Given the description of an element on the screen output the (x, y) to click on. 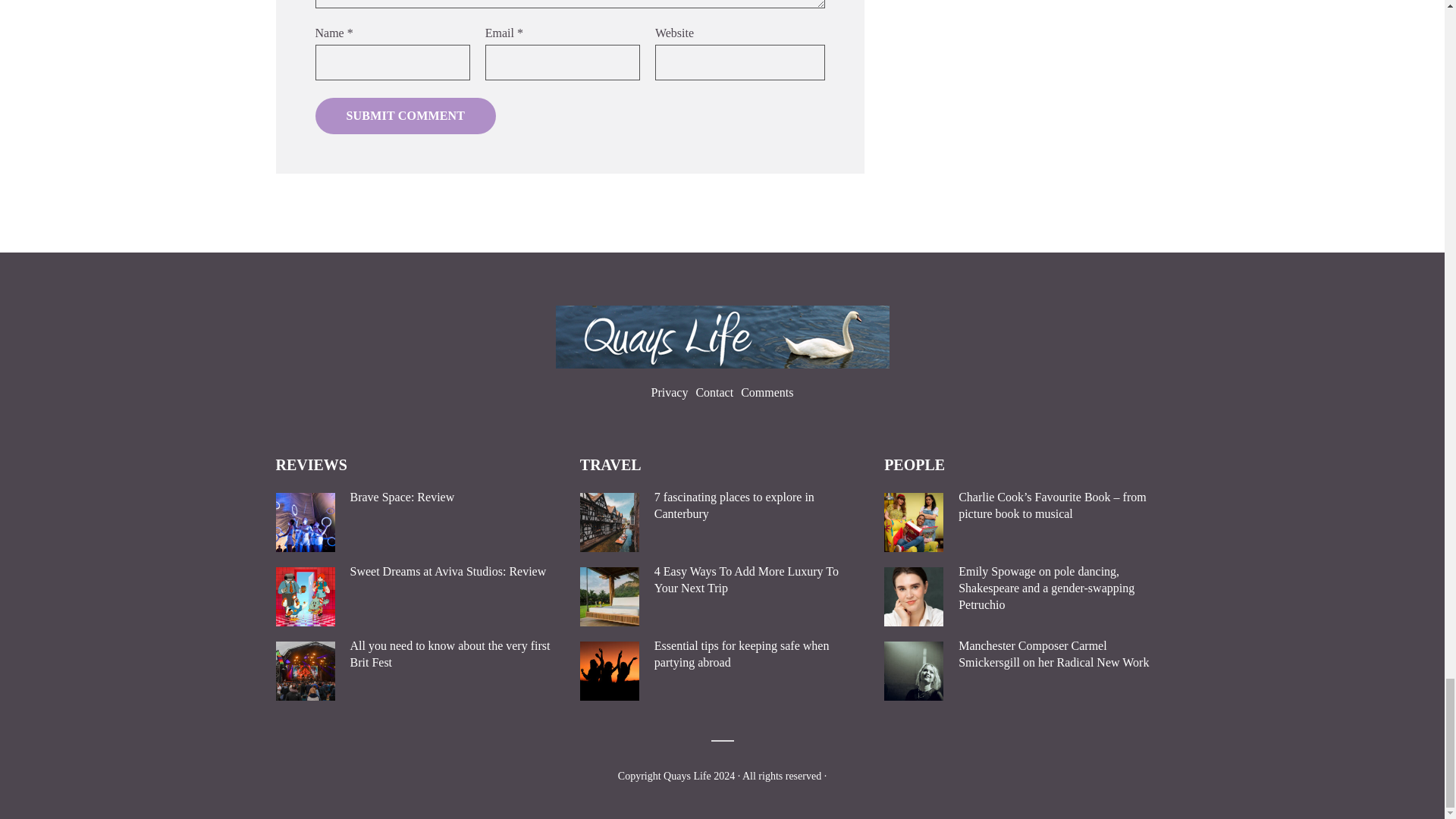
Submit Comment (405, 115)
